Given the description of an element on the screen output the (x, y) to click on. 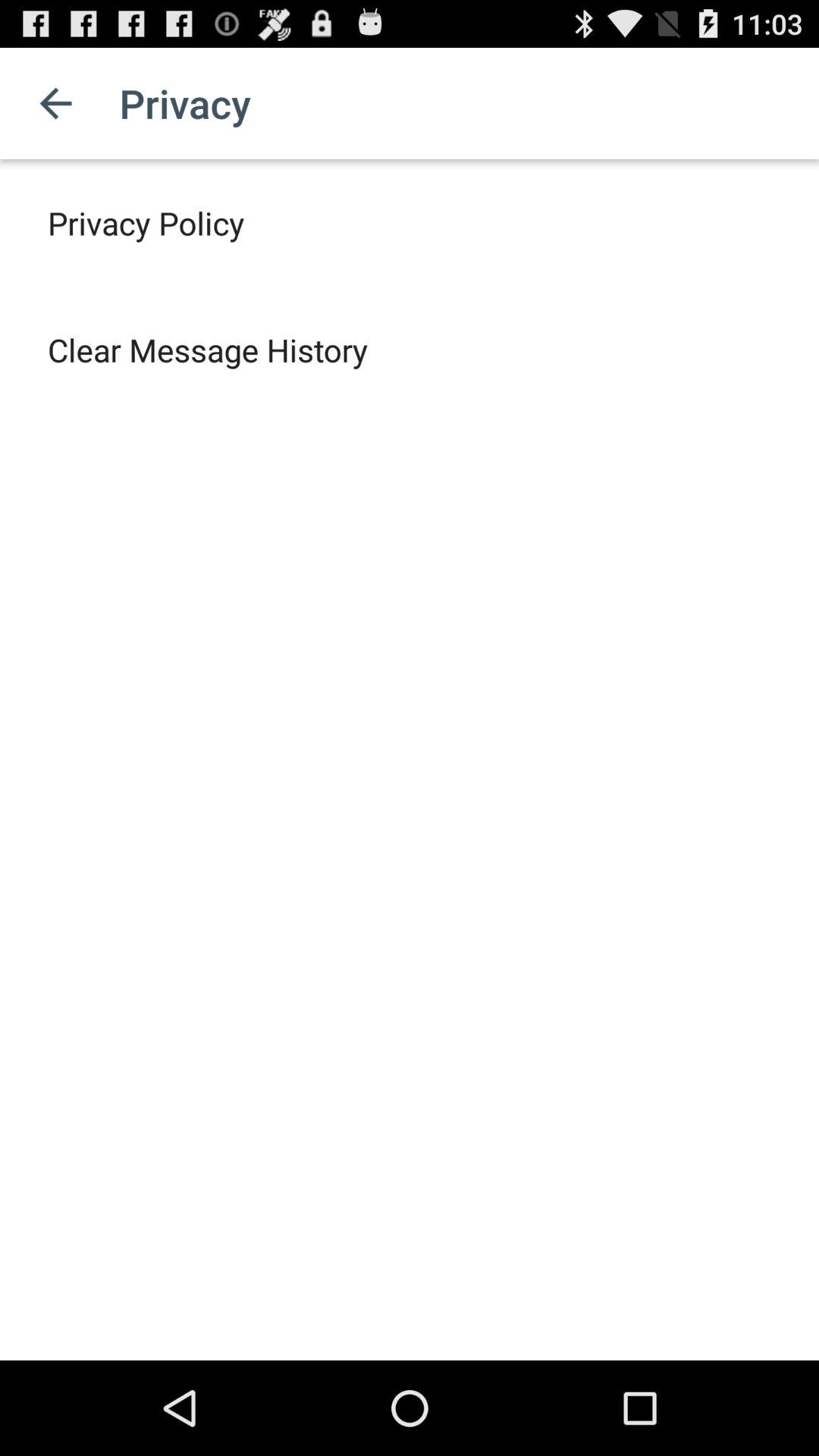
scroll until privacy policy item (145, 222)
